Given the description of an element on the screen output the (x, y) to click on. 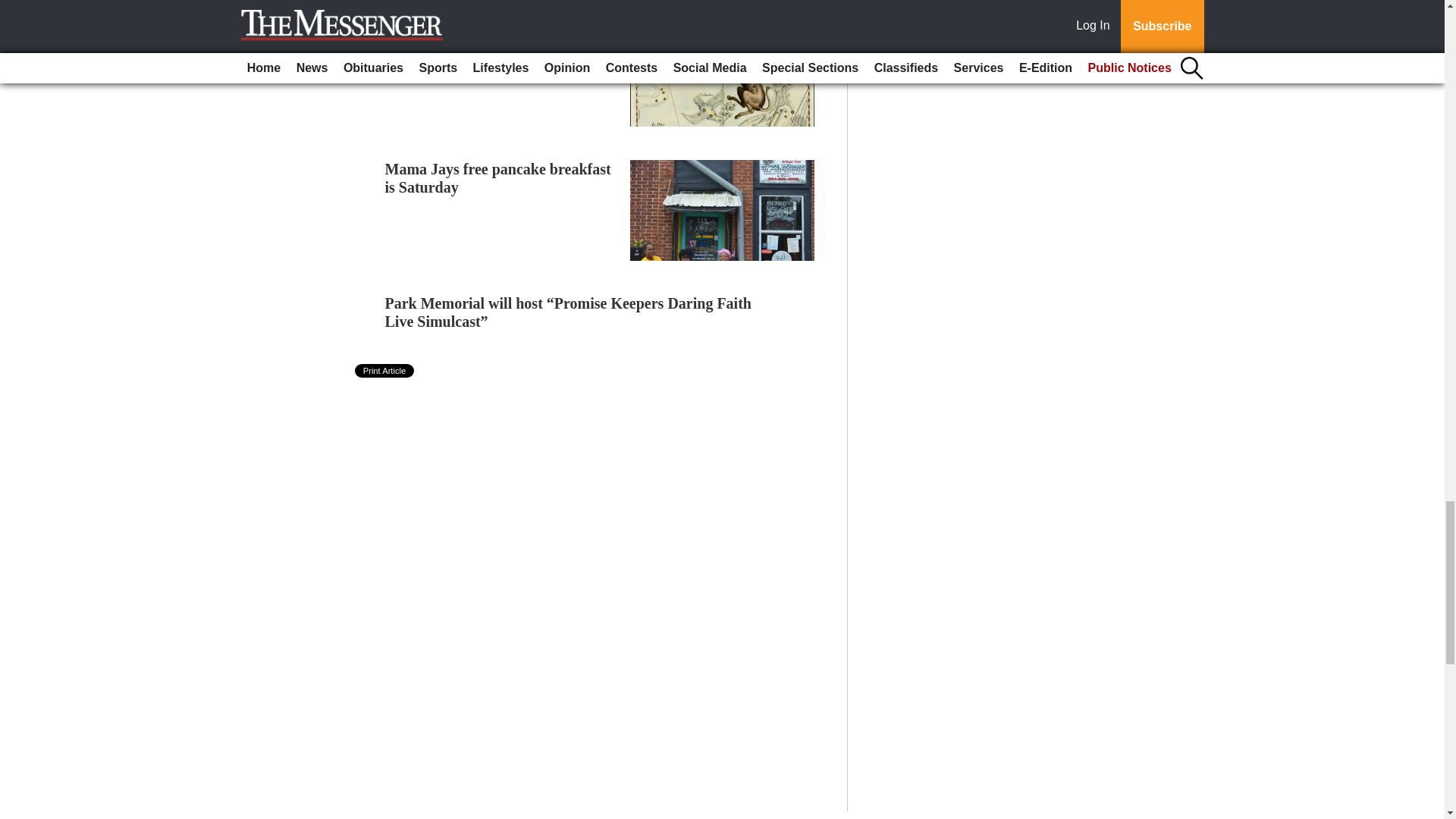
Dog Days:  Forty days  of misery underway (487, 43)
Mama Jays free pancake breakfast is Saturday (498, 177)
